Given the description of an element on the screen output the (x, y) to click on. 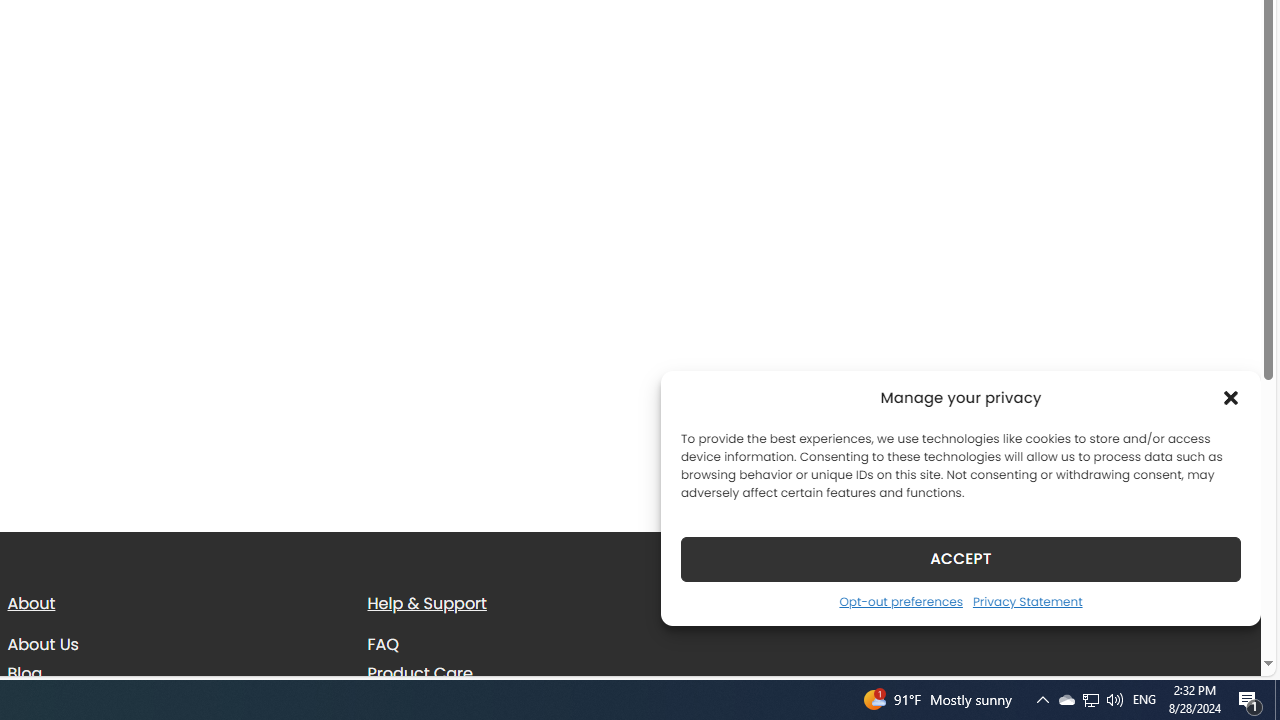
Blog (24, 672)
About Us (42, 644)
ACCEPT (960, 558)
Go to top (1220, 647)
Product Care (532, 673)
FAQ (532, 645)
Privacy Statement (1026, 601)
About Us (171, 645)
Product Care (420, 672)
Class: cmplz-close (1231, 397)
Opt-out preferences (900, 601)
Blog (171, 673)
FAQ (383, 644)
